Given the description of an element on the screen output the (x, y) to click on. 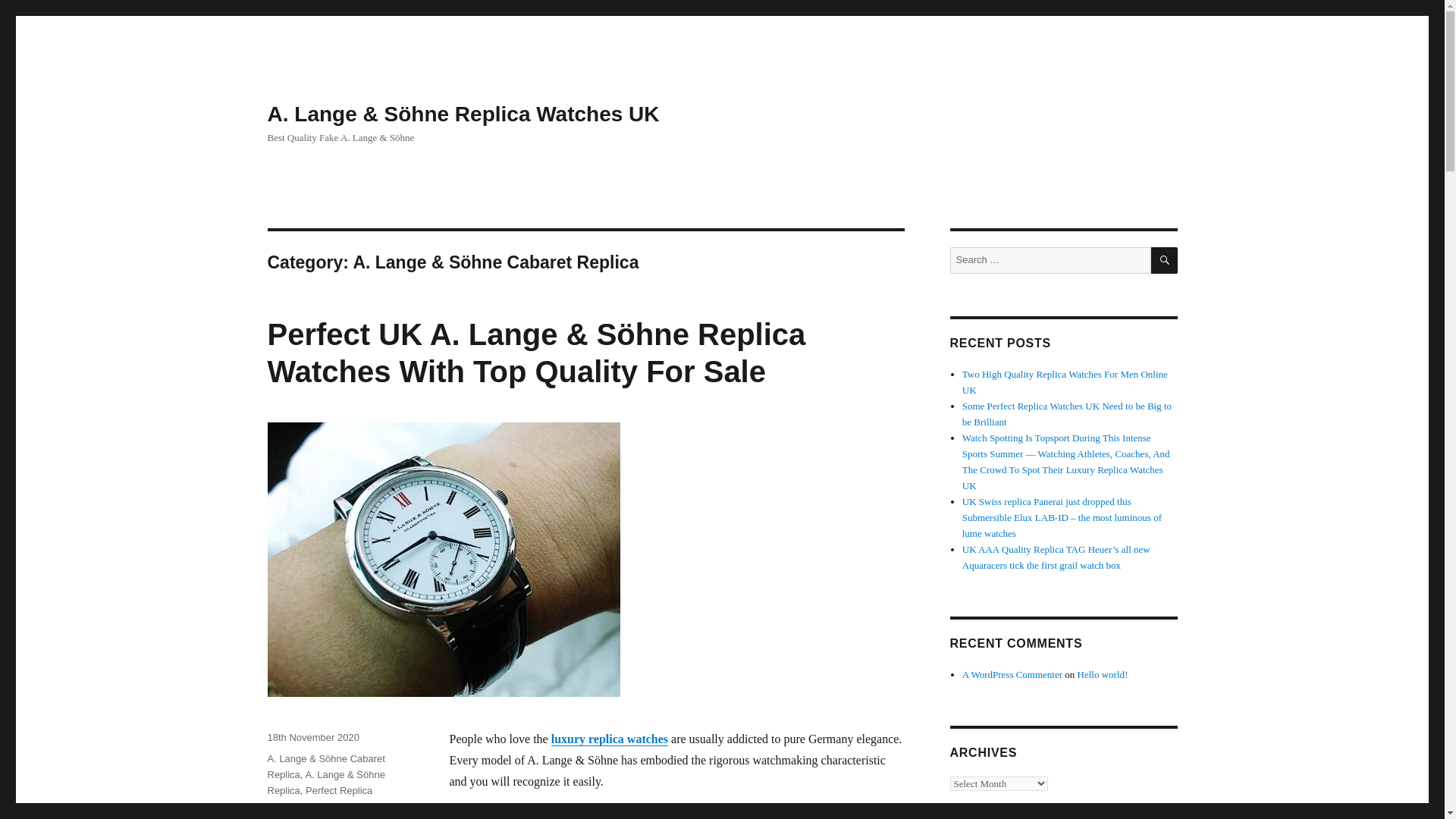
Two High Quality Replica Watches For Men Online UK (1064, 381)
luxury replica watches (609, 738)
A WordPress Commenter (1012, 674)
SEARCH (1164, 260)
18th November 2020 (312, 737)
Perfect Replica Watches (319, 798)
Hello world! (1102, 674)
